Given the description of an element on the screen output the (x, y) to click on. 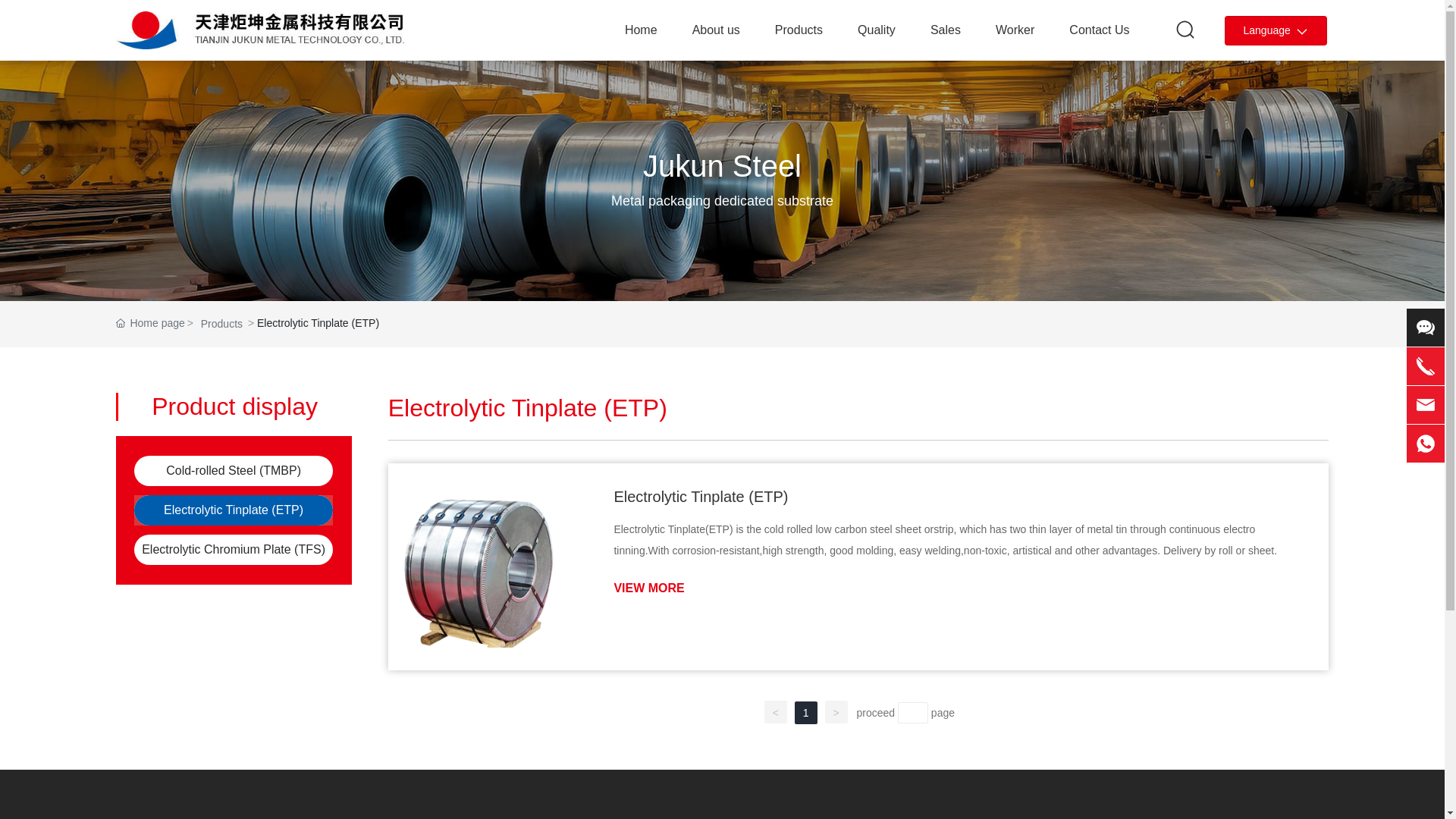
Products Element type: text (221, 323)
Electrolytic Tinplate (ETP) Element type: hover (482, 566)
Jukun Steel Element type: text (722, 165)
Jukun Steel Element type: hover (722, 150)
Products Element type: text (798, 30)
VIEW MORE Element type: text (648, 587)
Electrolytic Tinplate (ETP) Element type: text (700, 496)
> Element type: text (836, 711)
tel Element type: hover (1425, 443)
contact Element type: hover (1425, 327)
tel Element type: hover (1425, 366)
Home page Element type: text (149, 322)
Electrolytic Tinplate (ETP) Element type: text (233, 509)
Sales Element type: text (945, 30)
Electrolytic Chromium Plate (TFS) Element type: text (233, 548)
tel Element type: hover (1425, 404)
Worker Element type: text (1014, 30)
Contact Us Element type: text (1098, 30)
Home Element type: text (640, 30)
About us Element type: text (715, 30)
< Element type: text (775, 711)
1 Element type: text (805, 712)
Quality Element type: text (876, 30)
Cold-rolled Steel (TMBP) Element type: text (233, 470)
